Given the description of an element on the screen output the (x, y) to click on. 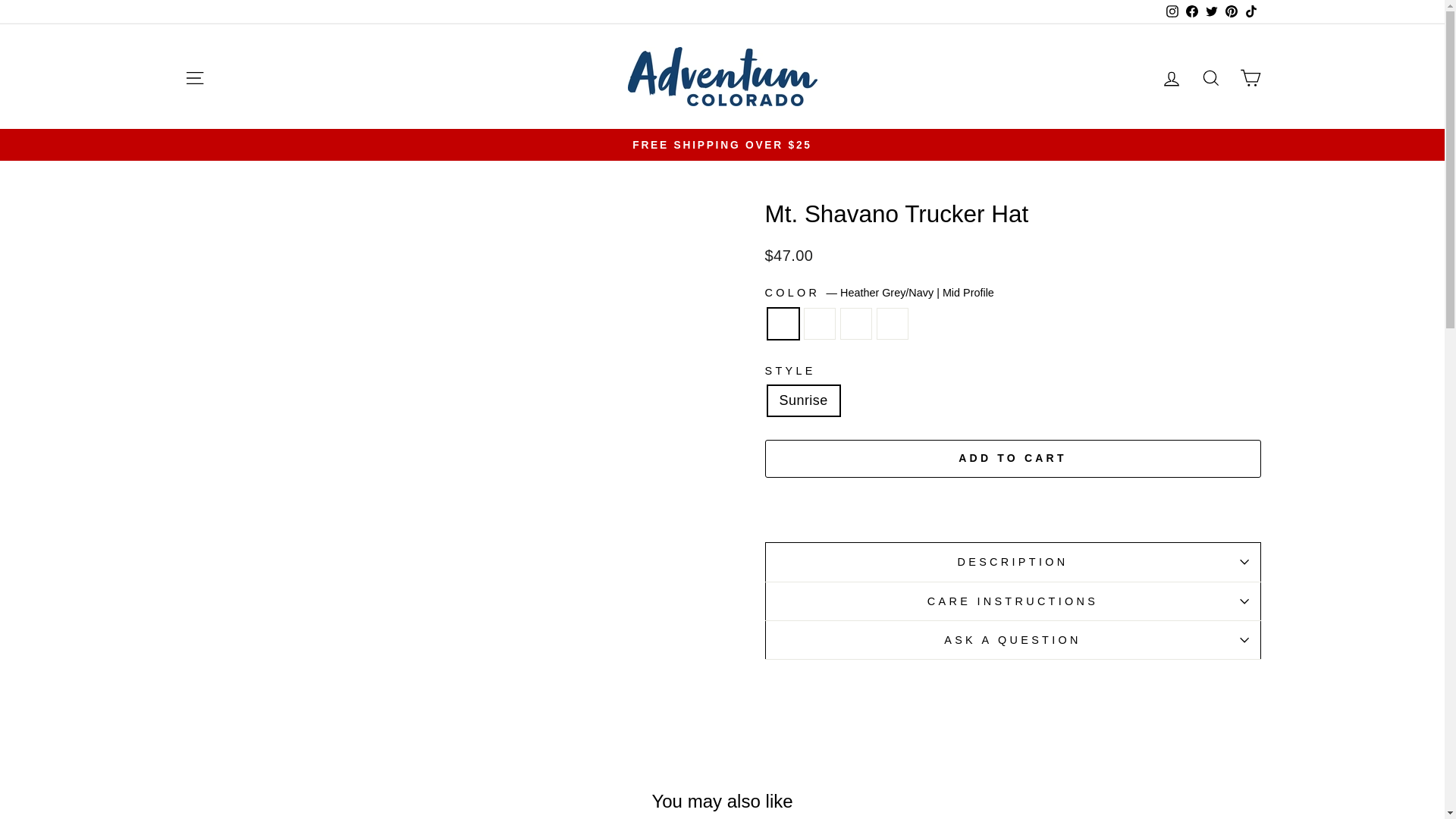
CART (1249, 76)
SITE NAVIGATION (194, 76)
SEARCH (1210, 76)
LOG IN (1171, 76)
